Given the description of an element on the screen output the (x, y) to click on. 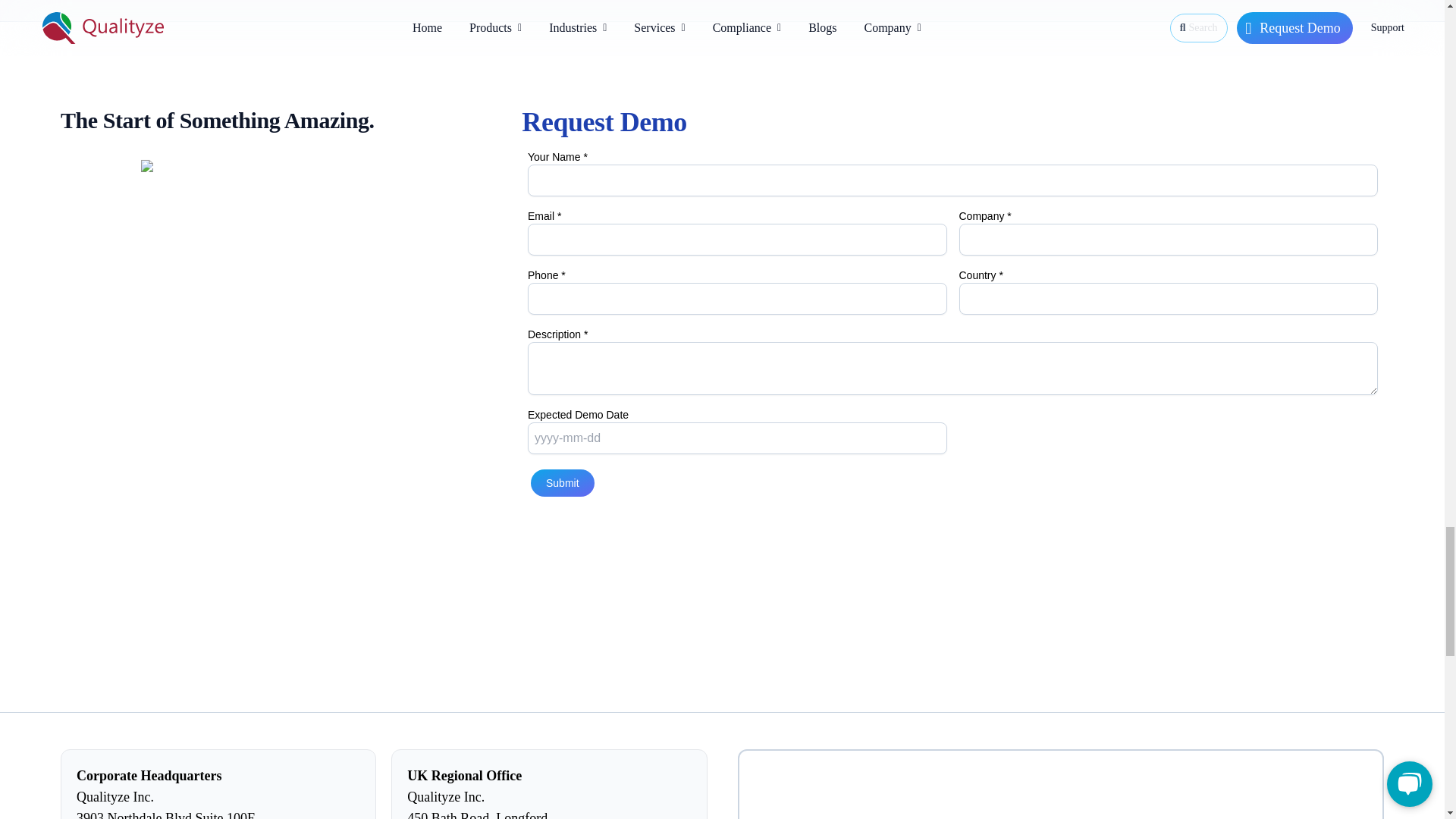
Qualityze Inc Office Location on Google Map (1060, 784)
